Given the description of an element on the screen output the (x, y) to click on. 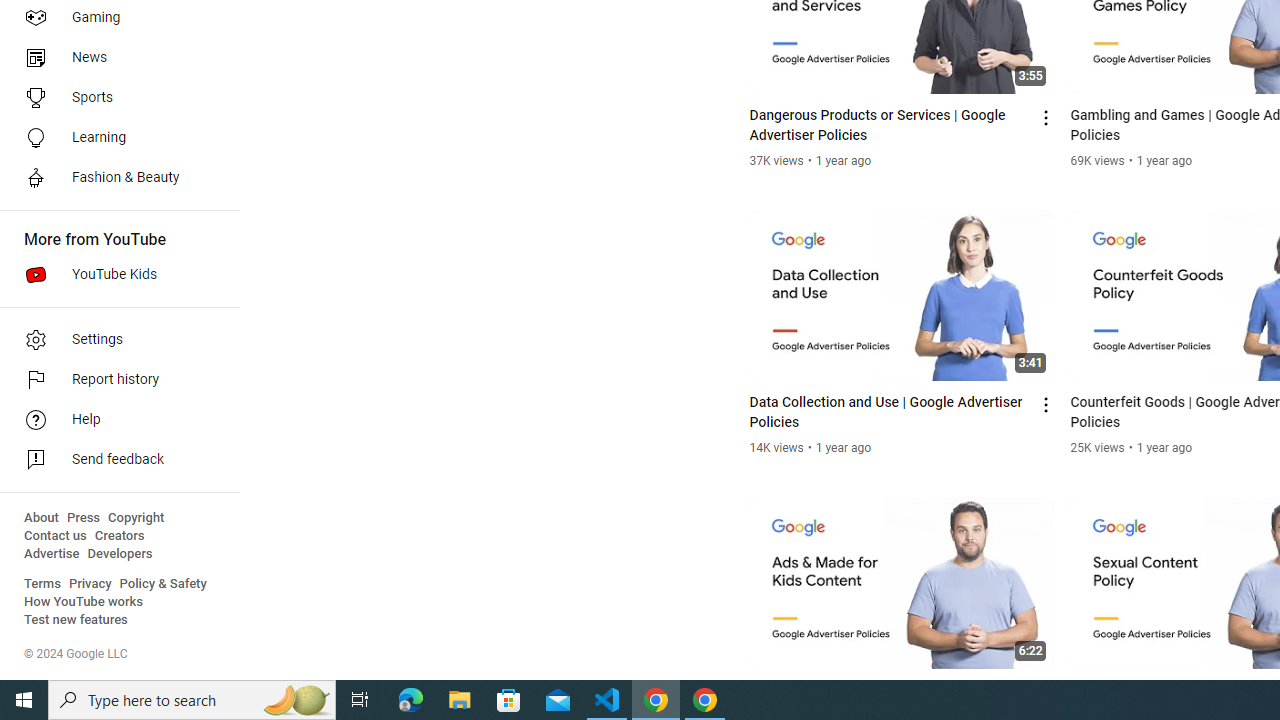
Send feedback (113, 459)
Policy & Safety (163, 584)
Press (83, 518)
About (41, 518)
Contact us (55, 536)
